Given the description of an element on the screen output the (x, y) to click on. 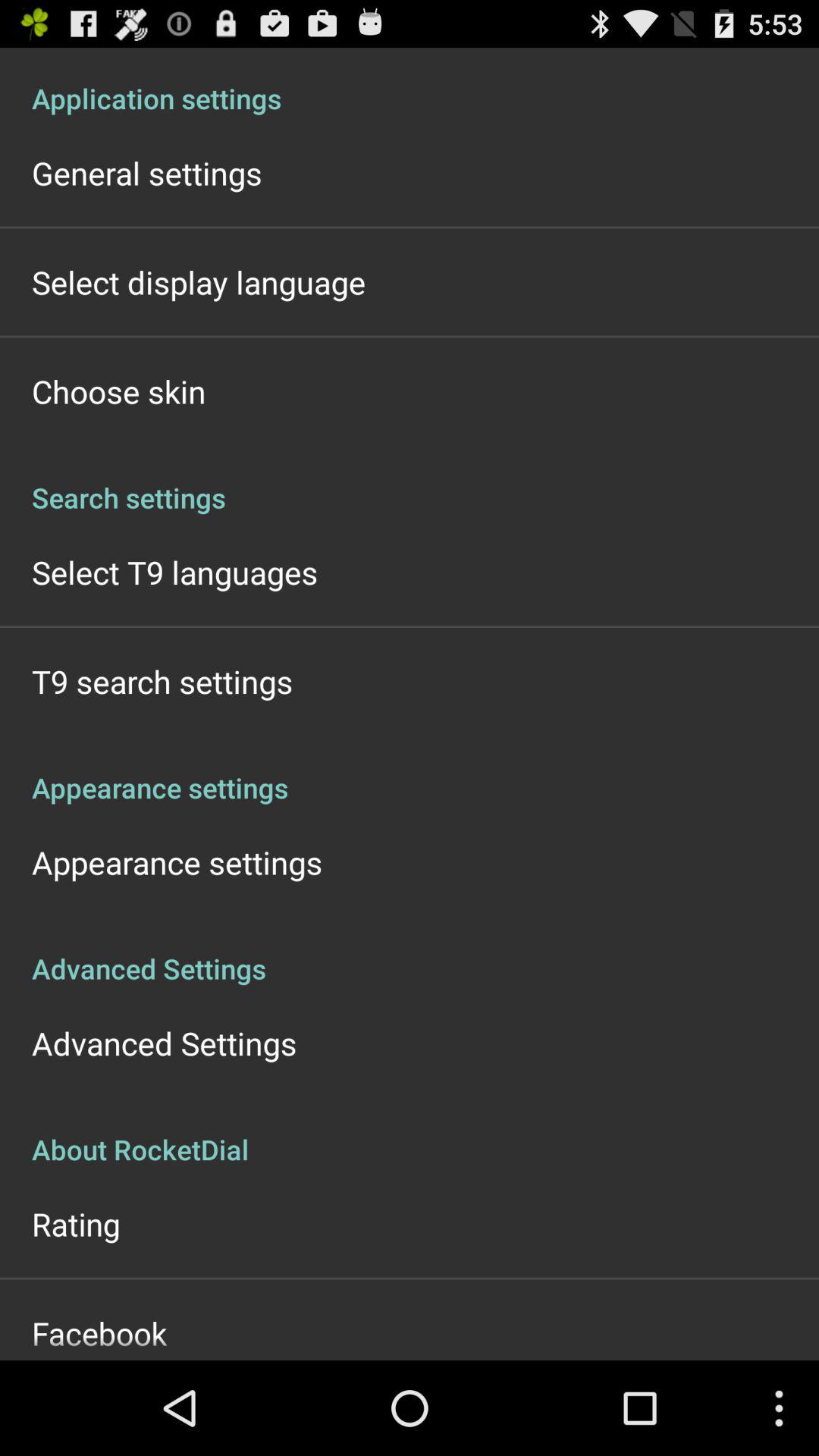
select the rating app (75, 1223)
